Given the description of an element on the screen output the (x, y) to click on. 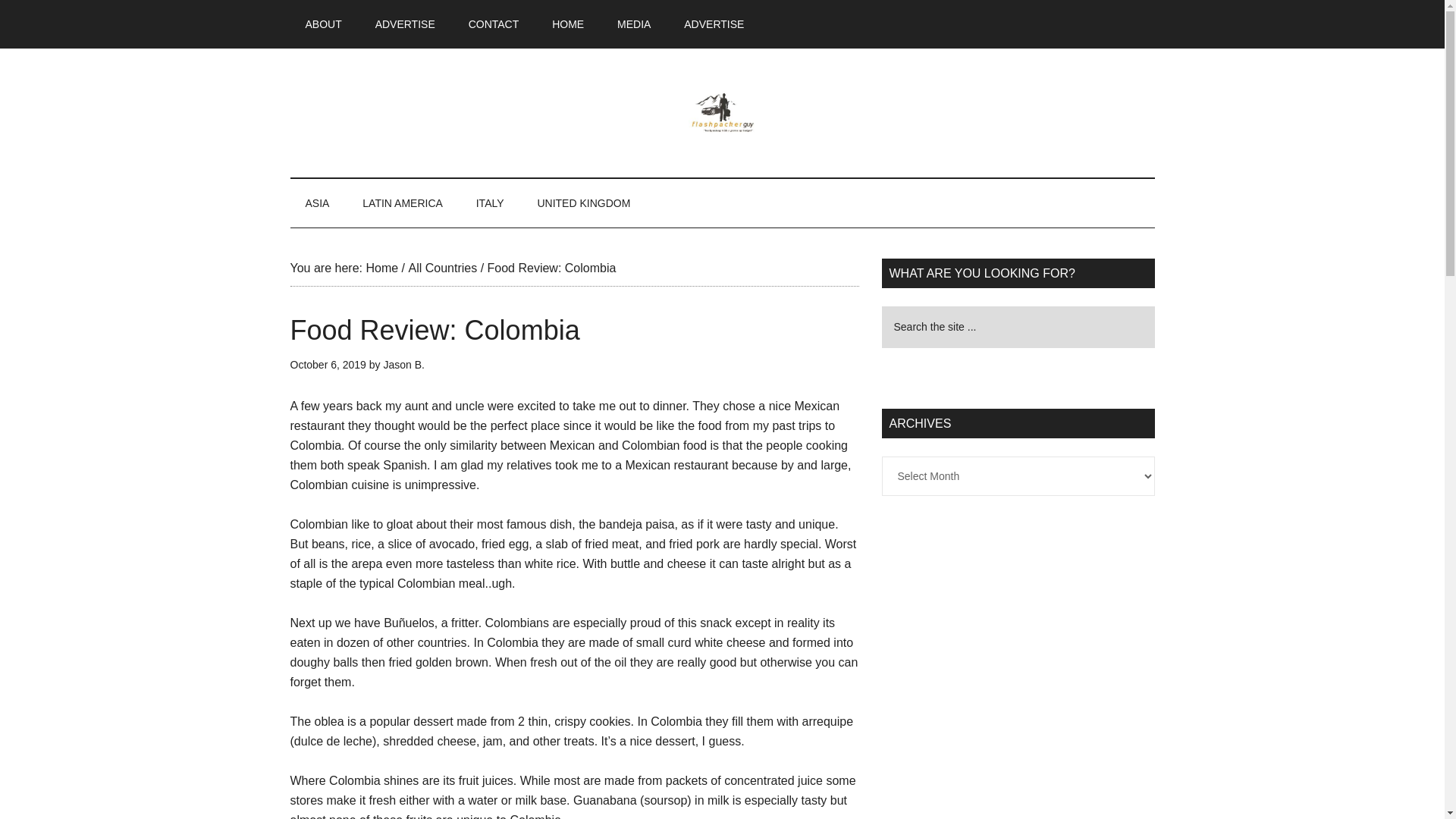
Jason B. (402, 364)
All Countries (442, 267)
MEDIA (633, 24)
ASIA (316, 203)
CONTACT (493, 24)
ABOUT (322, 24)
HOME (567, 24)
Flashpacker Guy (721, 112)
